Given the description of an element on the screen output the (x, y) to click on. 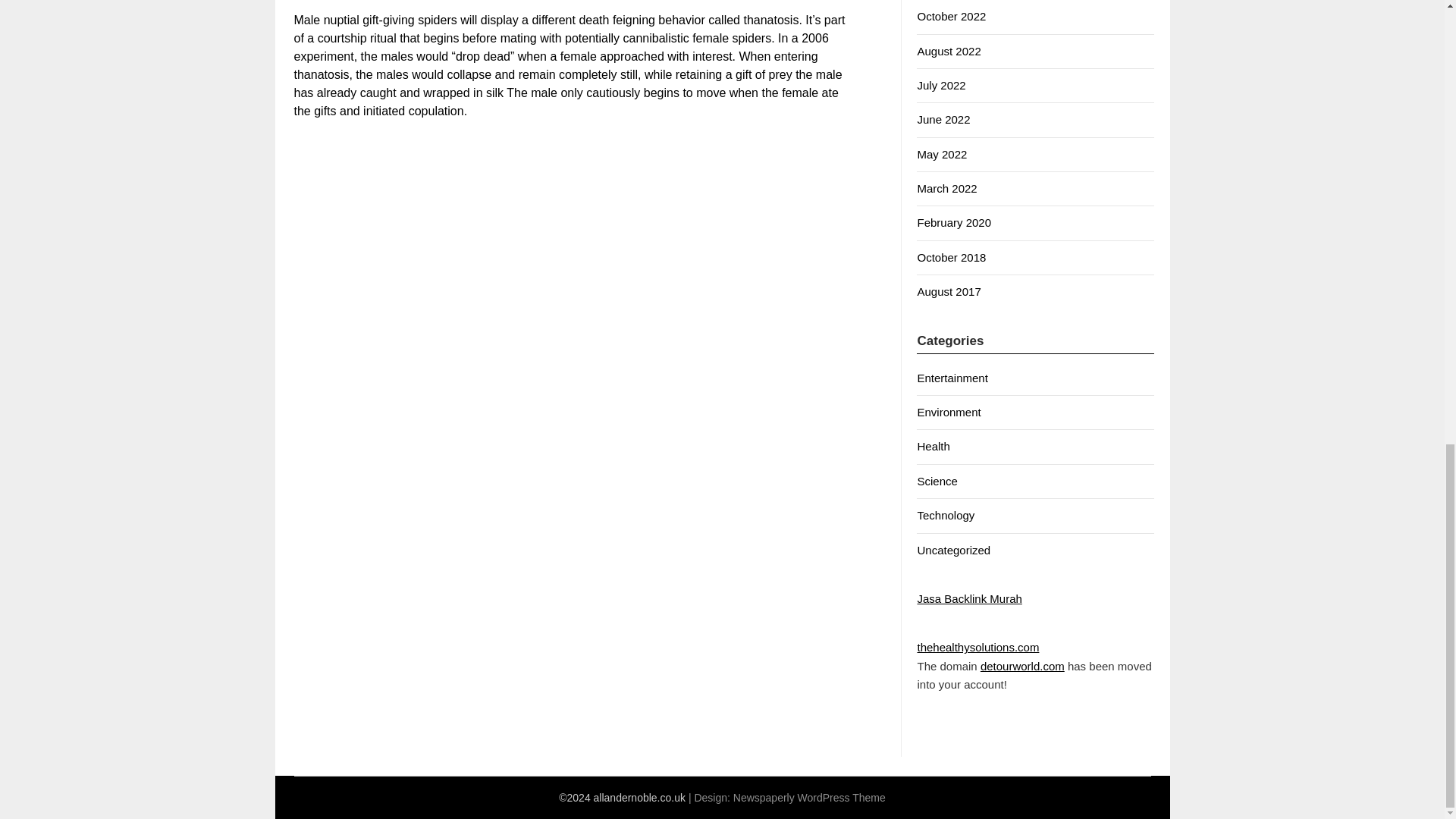
July 2022 (941, 84)
August 2022 (948, 51)
October 2022 (951, 15)
